Given the description of an element on the screen output the (x, y) to click on. 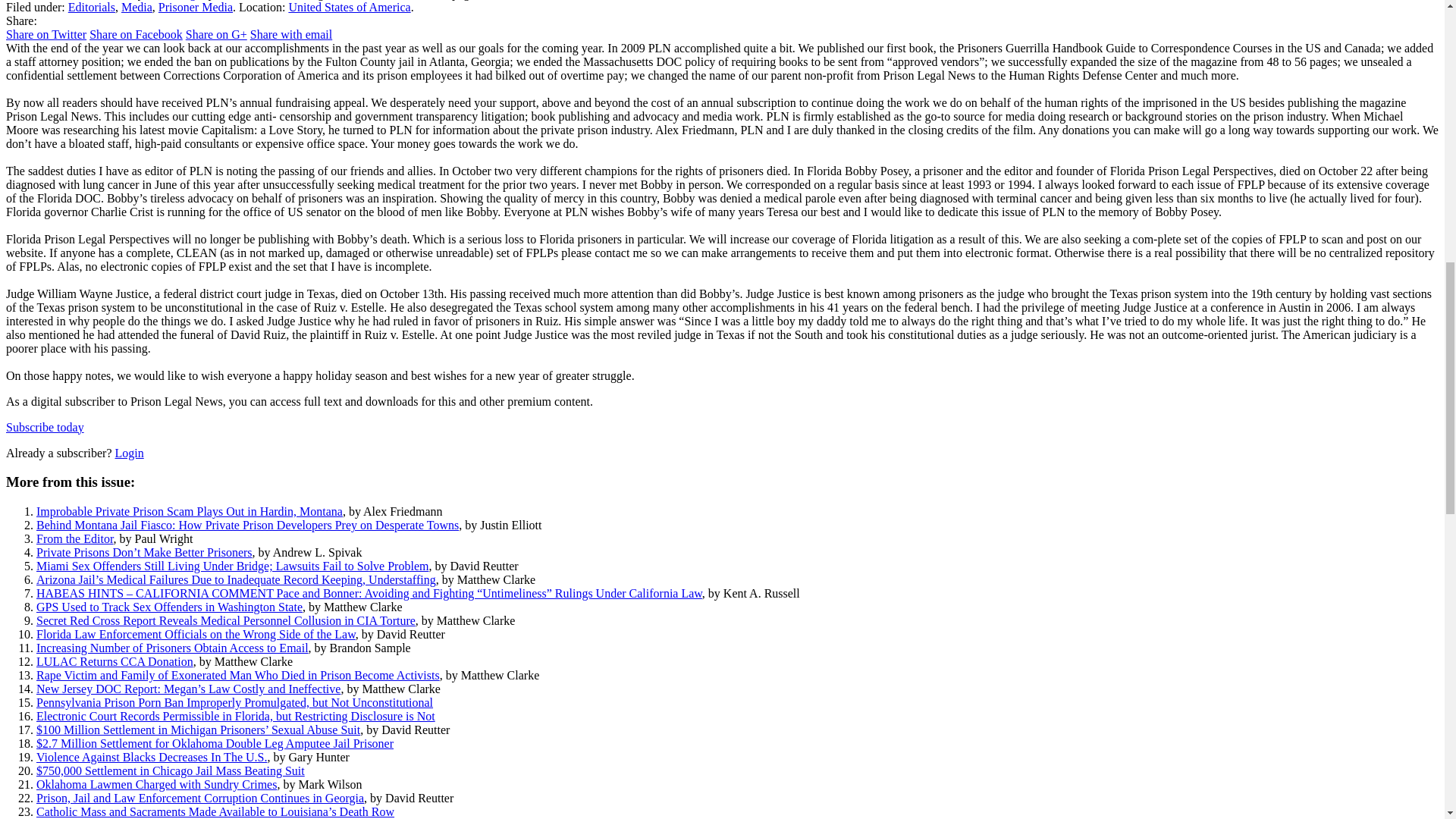
Share on Twitter (45, 33)
Share on Facebook (135, 33)
Share with email (290, 33)
